Given the description of an element on the screen output the (x, y) to click on. 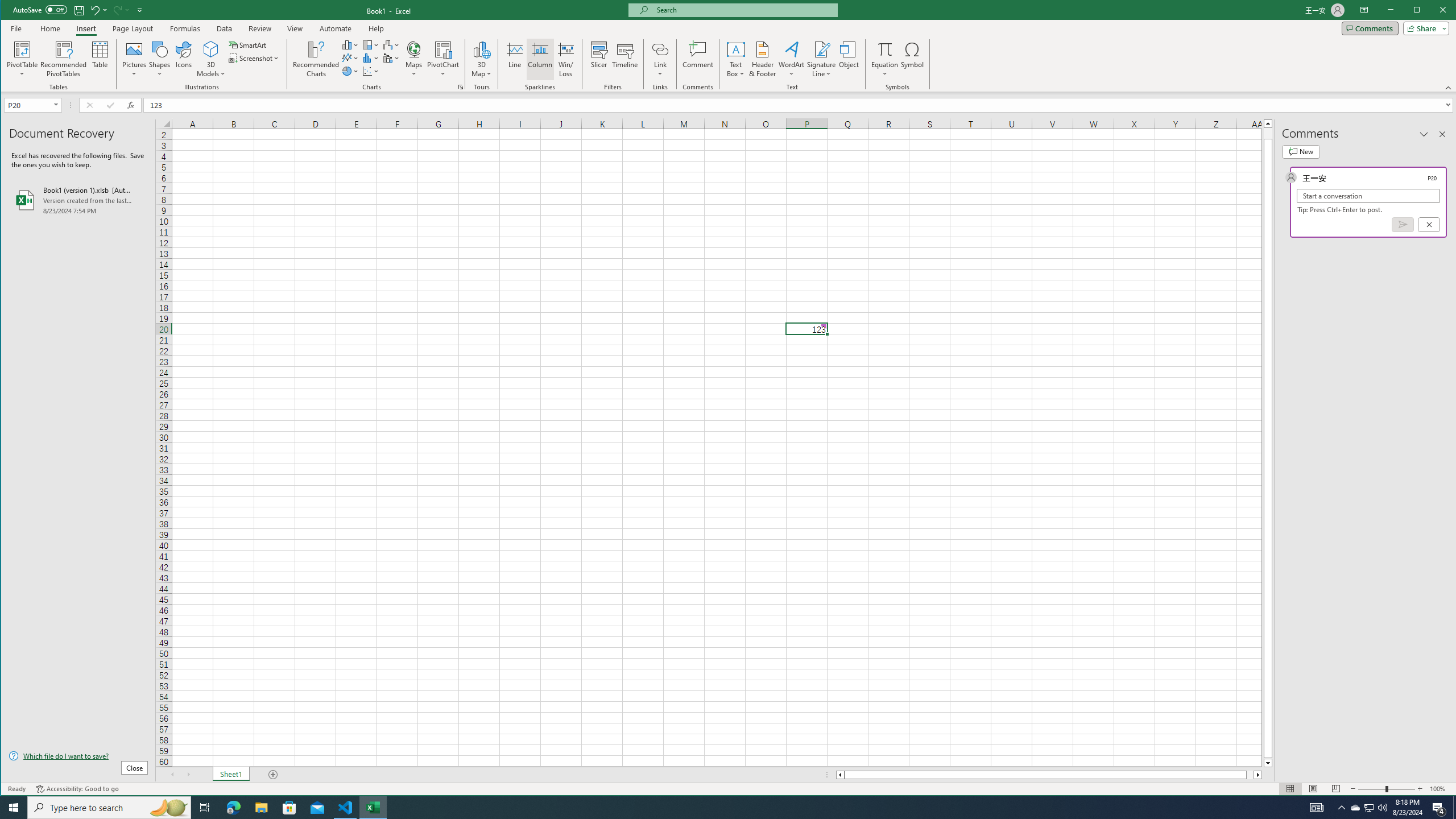
Maps (413, 59)
Symbol... (912, 59)
PivotChart (443, 48)
Start (13, 807)
Running applications (717, 807)
Object... (848, 59)
Visual Studio Code - 1 running window (345, 807)
Win/Loss (565, 59)
